Given the description of an element on the screen output the (x, y) to click on. 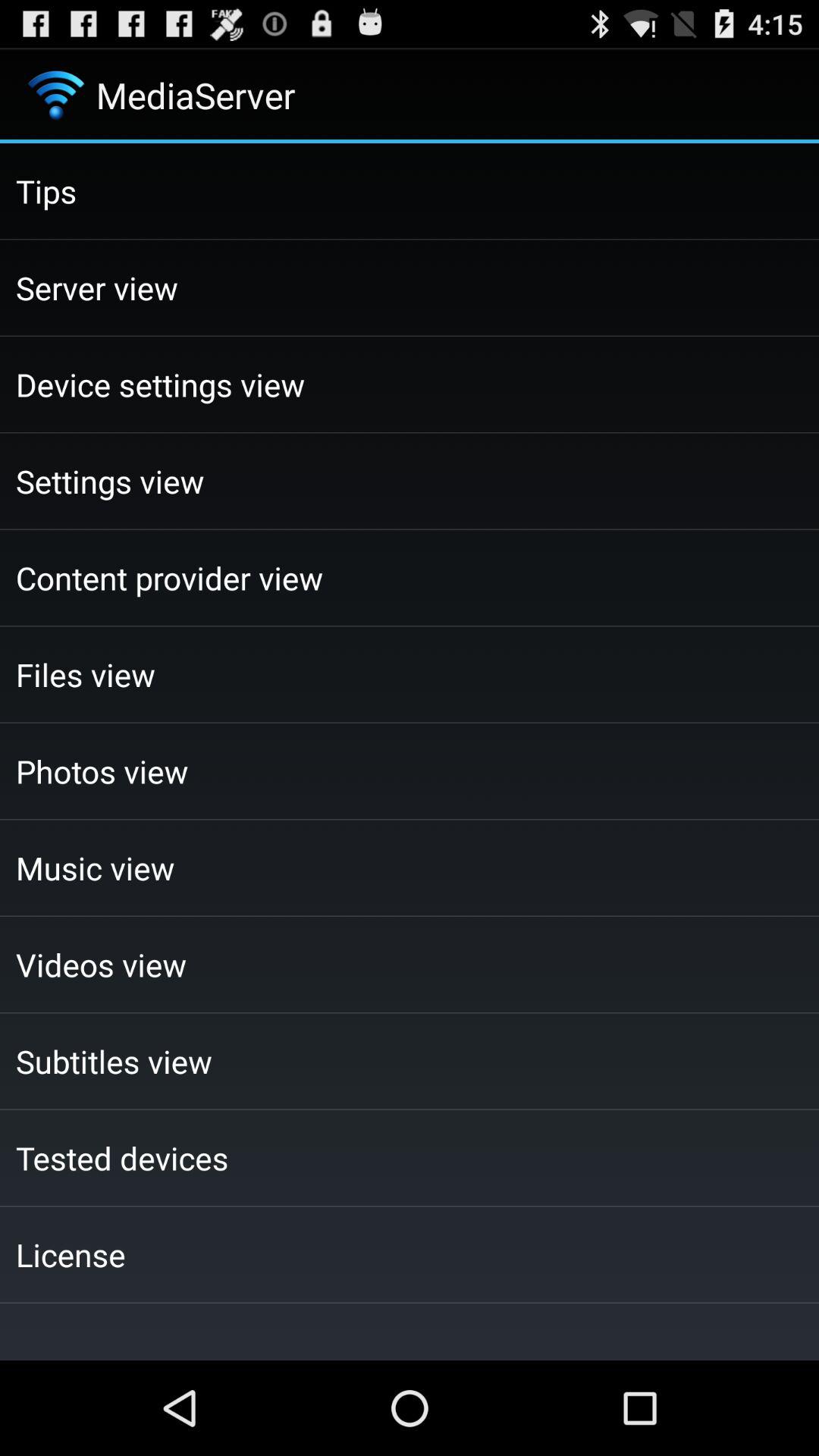
press the checkbox above the subtitles view checkbox (409, 964)
